Given the description of an element on the screen output the (x, y) to click on. 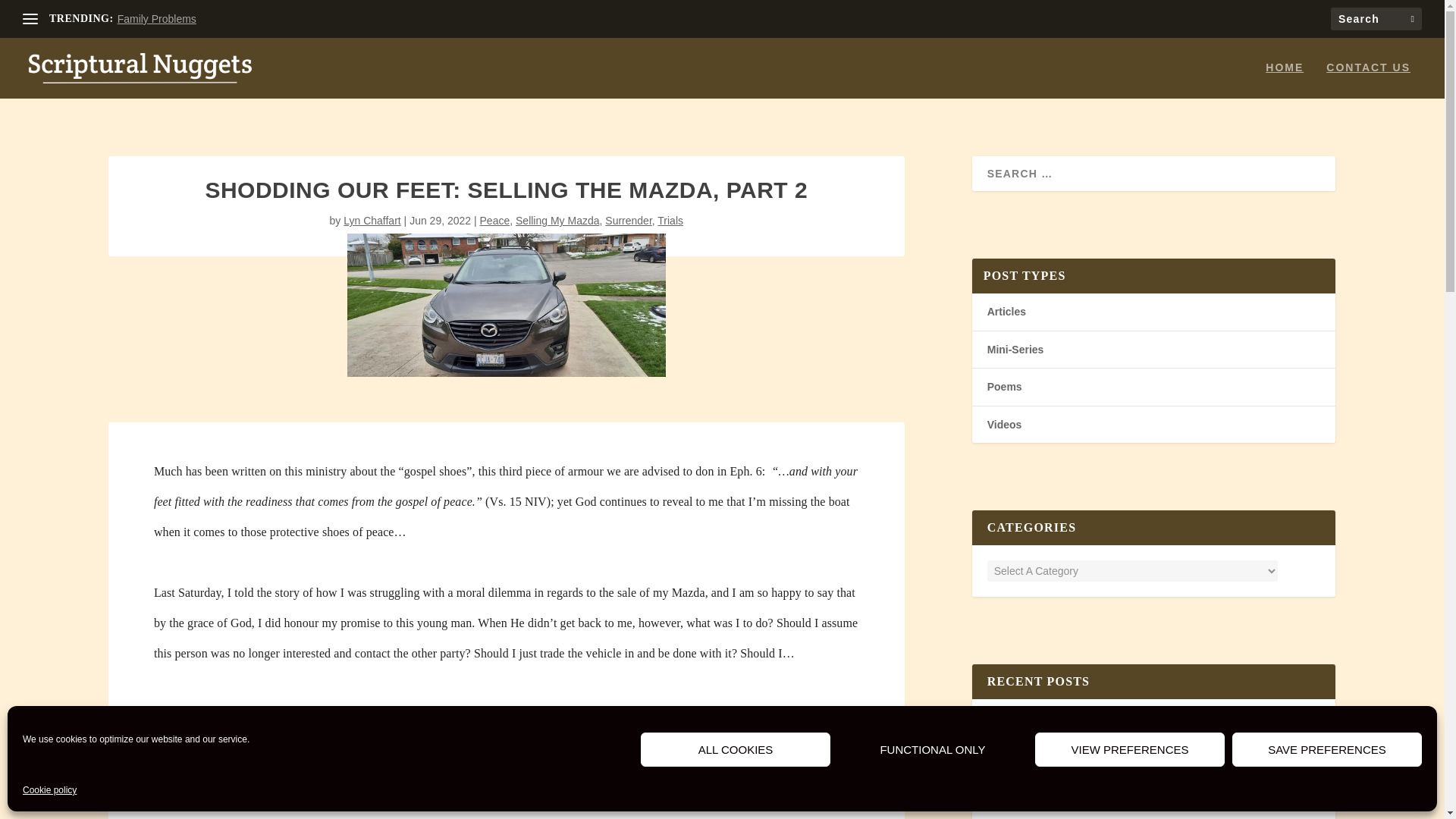
Poems (1004, 386)
Borrowed Clothes (1032, 719)
Articles (1006, 311)
ALL COOKIES (734, 749)
SAVE PREFERENCES (1326, 749)
Trials (670, 220)
Videos (1004, 424)
CONTACT US (1368, 79)
Family Problems (156, 19)
FUNCTIONAL ONLY (932, 749)
Selling My Mazda (557, 220)
Lyn Chaffart (372, 220)
Mazda 1 SM (506, 304)
Mini-Series (1015, 349)
Uncategorized (1072, 733)
